Given the description of an element on the screen output the (x, y) to click on. 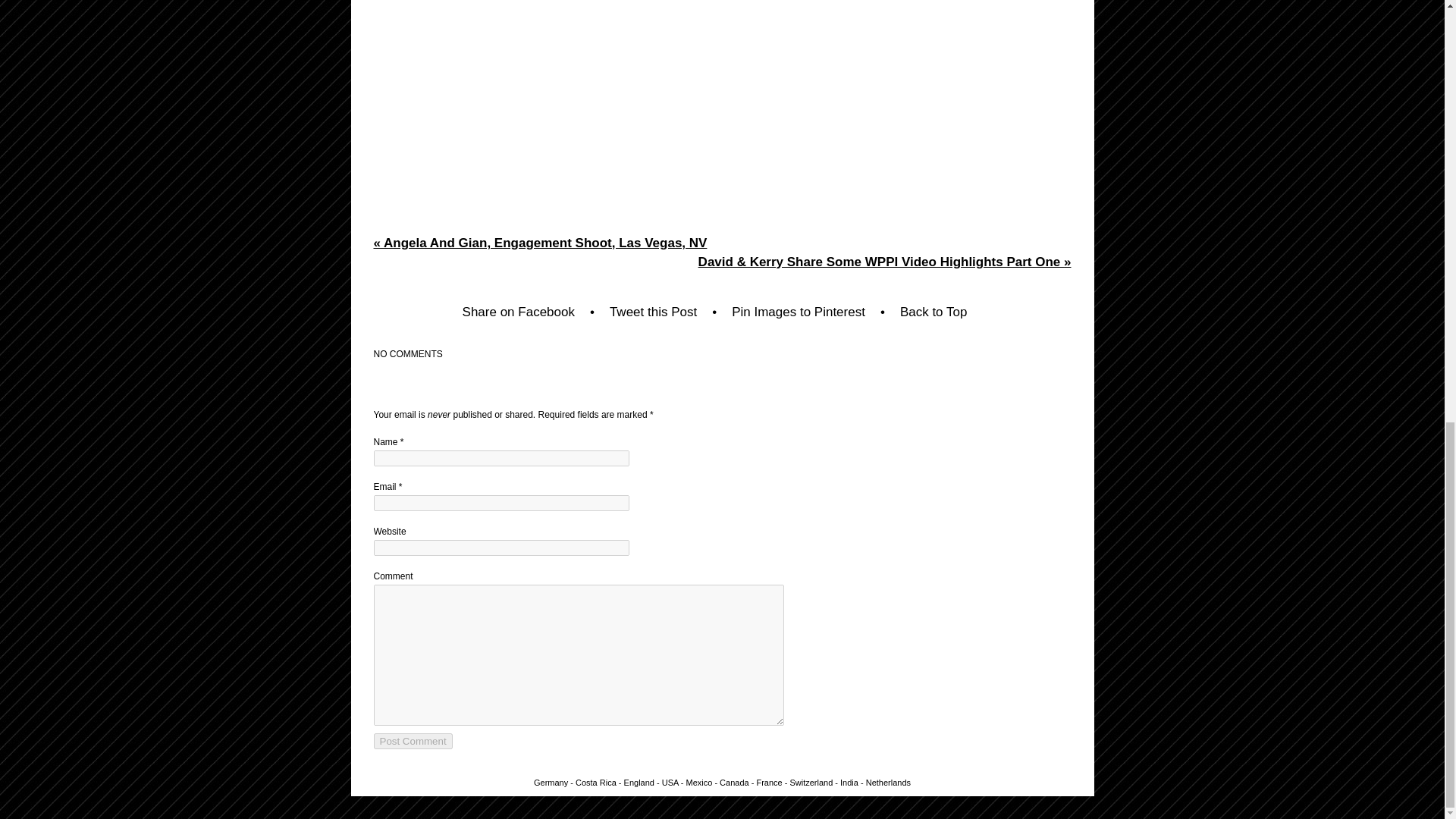
Post Comment (411, 741)
